Given the description of an element on the screen output the (x, y) to click on. 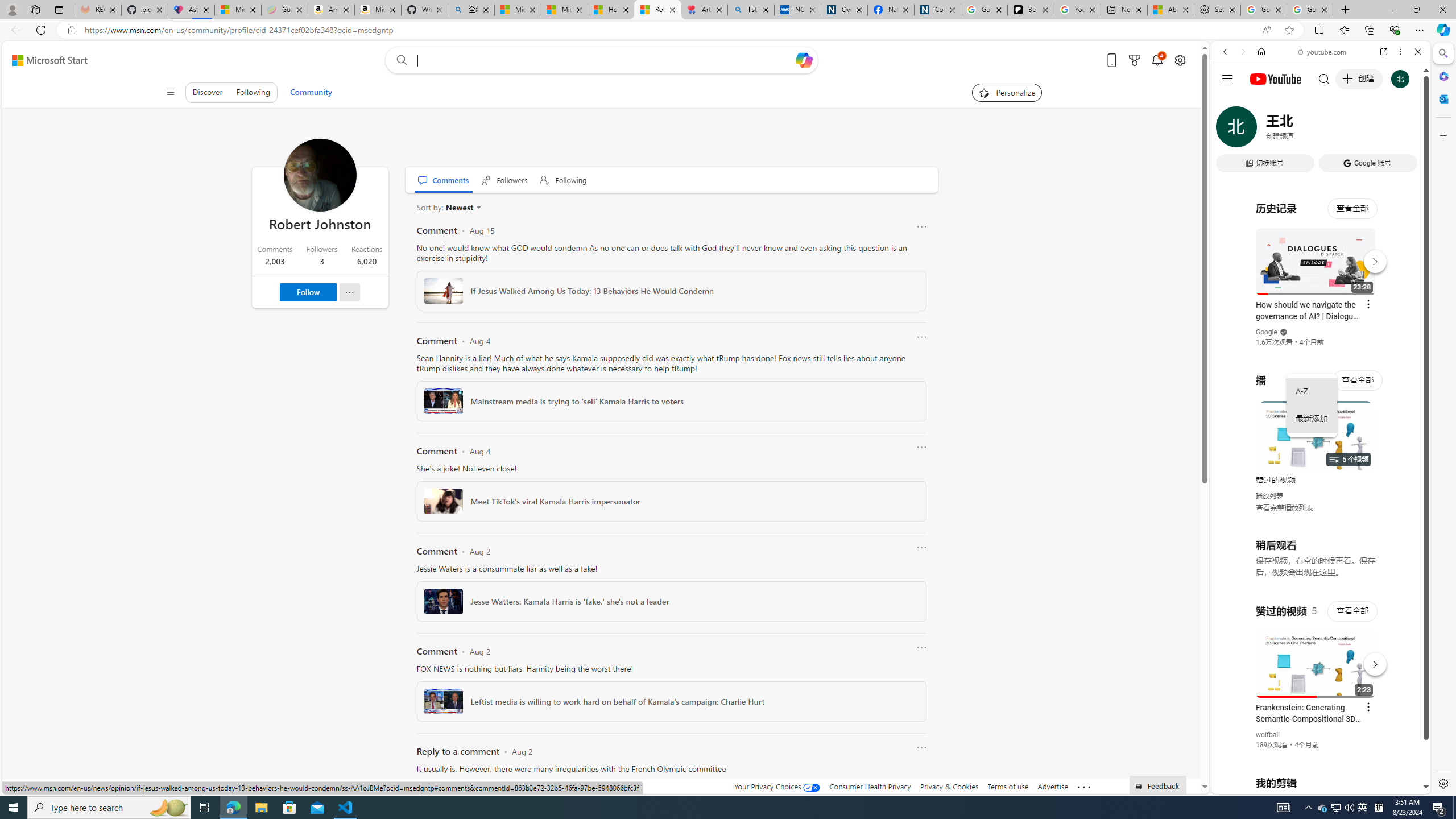
Class: control icon-only (170, 92)
youtube.com (1322, 51)
